Given the description of an element on the screen output the (x, y) to click on. 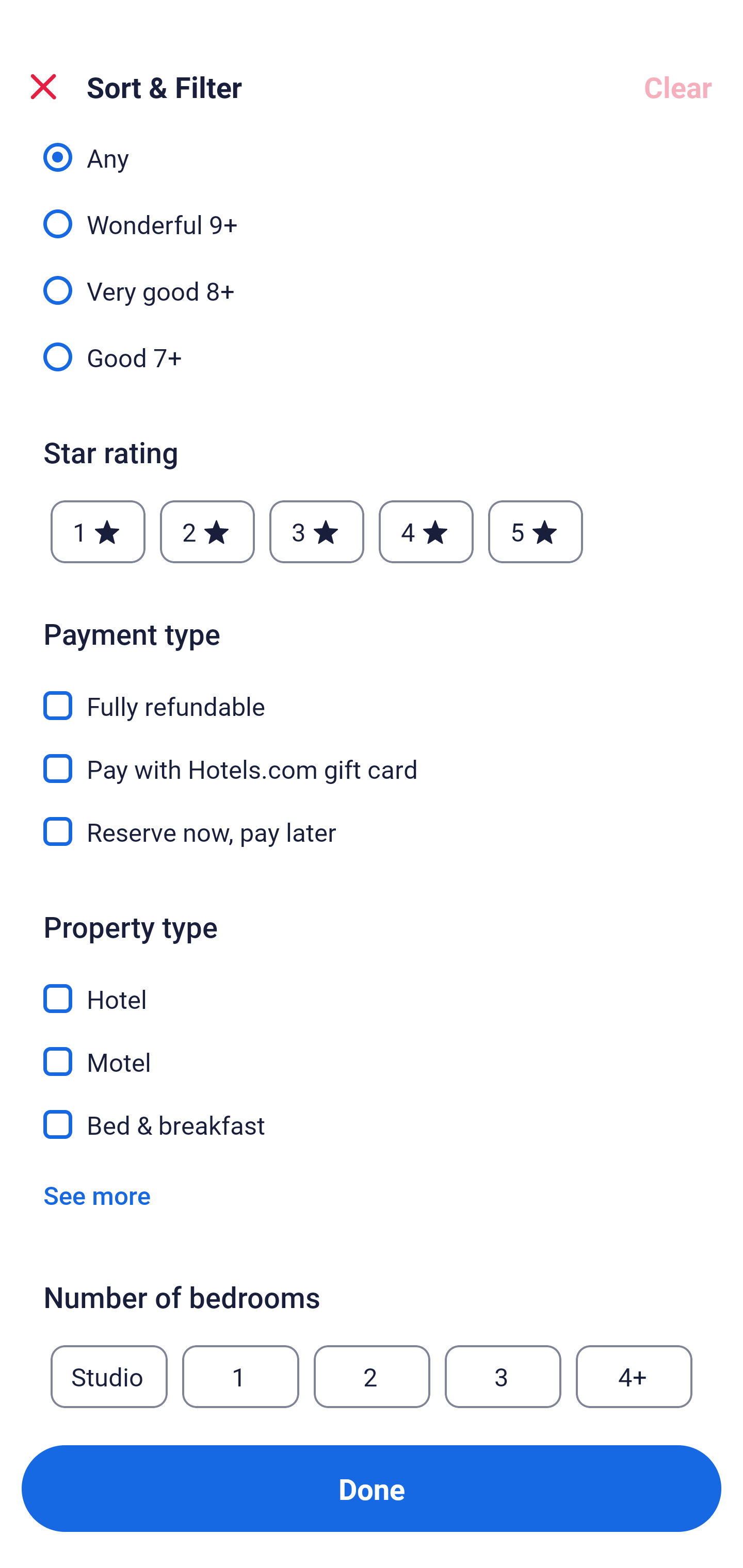
Close Sort and Filter (43, 86)
Clear (677, 86)
Wonderful 9+ (371, 212)
Very good 8+ (371, 279)
Good 7+ (371, 355)
1 (97, 532)
2 (206, 532)
3 (316, 532)
4 (426, 532)
5 (535, 532)
Fully refundable, Fully refundable (371, 694)
Reserve now, pay later, Reserve now, pay later (371, 831)
Hotel, Hotel (371, 987)
Motel, Motel (371, 1050)
Bed & breakfast, Bed & breakfast (371, 1124)
See more See more property types Link (96, 1195)
Studio (108, 1376)
1 (240, 1376)
2 (371, 1376)
3 (503, 1376)
4+ (633, 1376)
Apply and close Sort and Filter Done (371, 1488)
